Given the description of an element on the screen output the (x, y) to click on. 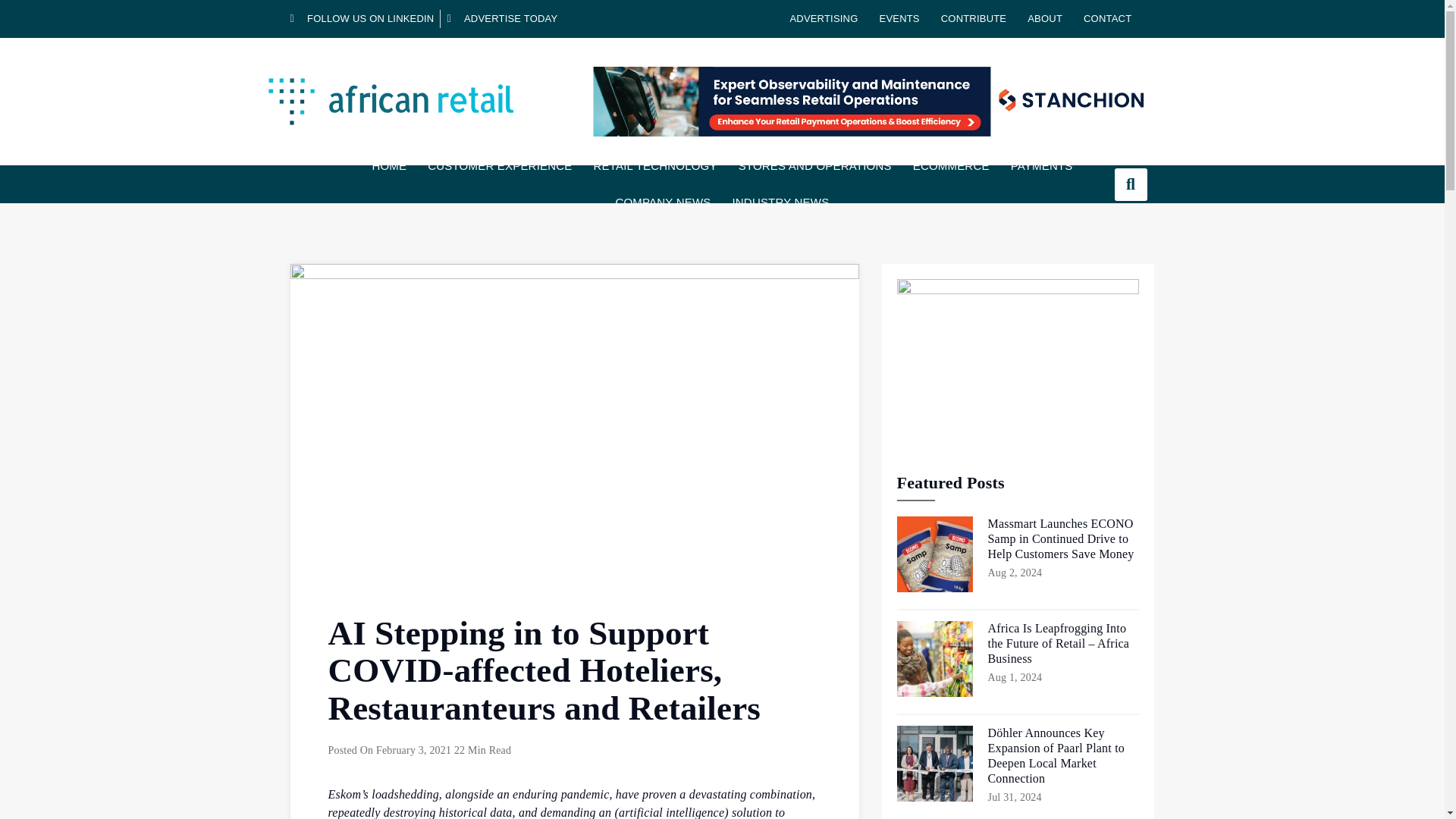
ADVERTISING (822, 18)
CONTACT (1107, 18)
ABOUT (1044, 18)
CONTRIBUTE (973, 18)
ADVERTISE TODAY (501, 18)
FOLLOW US ON LINKEDIN (361, 18)
EVENTS (899, 18)
